Given the description of an element on the screen output the (x, y) to click on. 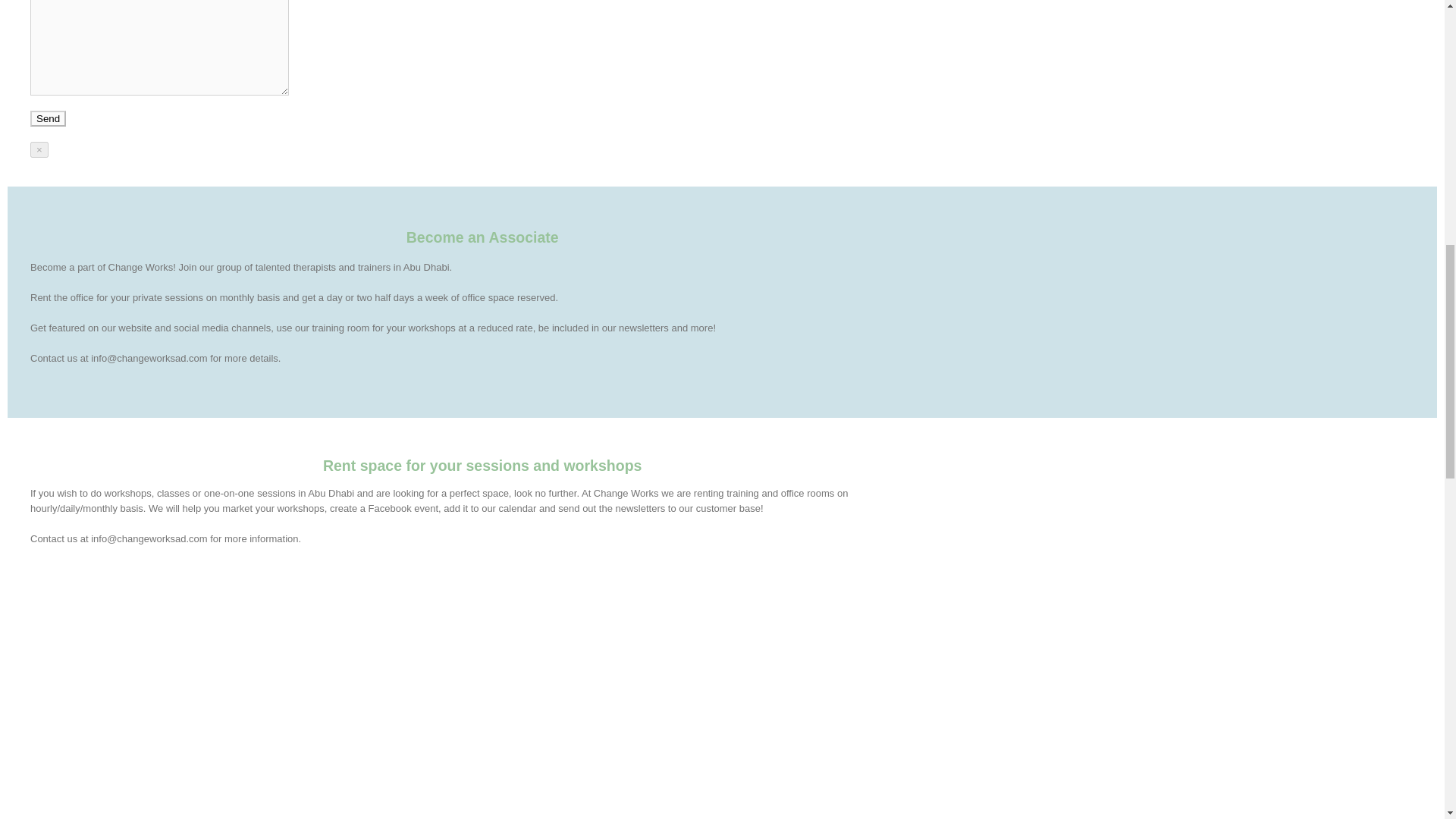
Send (47, 118)
Send (47, 118)
